Given the description of an element on the screen output the (x, y) to click on. 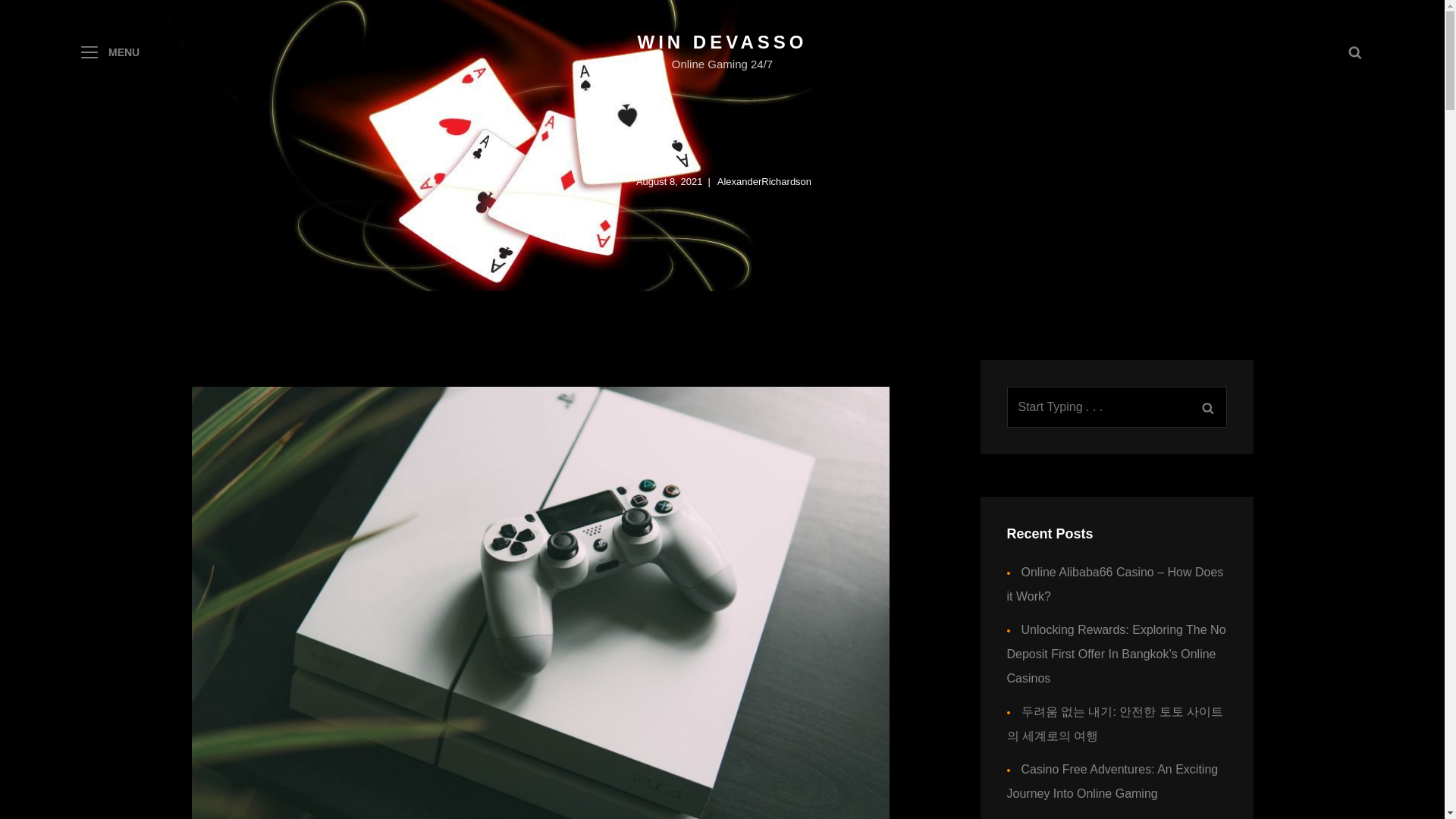
AlexanderRichardson (763, 181)
August 8, 2021 (668, 181)
MENU (109, 52)
Search (1207, 406)
Search (1354, 52)
WIN DEVASSO (722, 41)
